Given the description of an element on the screen output the (x, y) to click on. 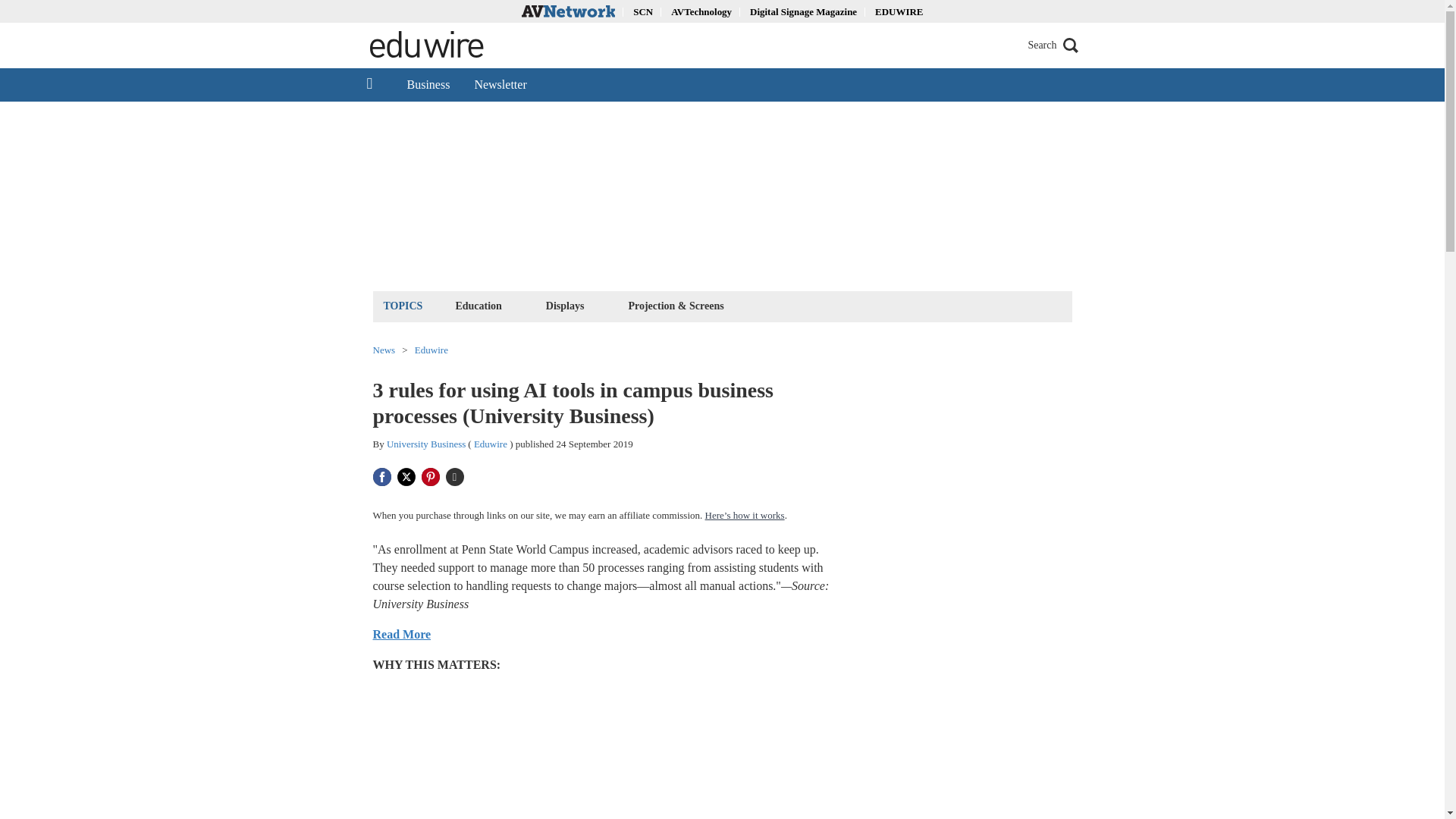
Read More (401, 634)
Business (427, 84)
Education (477, 305)
EDUWIRE (899, 11)
Newsletter (499, 84)
Eduwire (431, 349)
Eduwire (490, 443)
University Business (426, 443)
SCN (642, 11)
AVTechnology (701, 11)
